Given the description of an element on the screen output the (x, y) to click on. 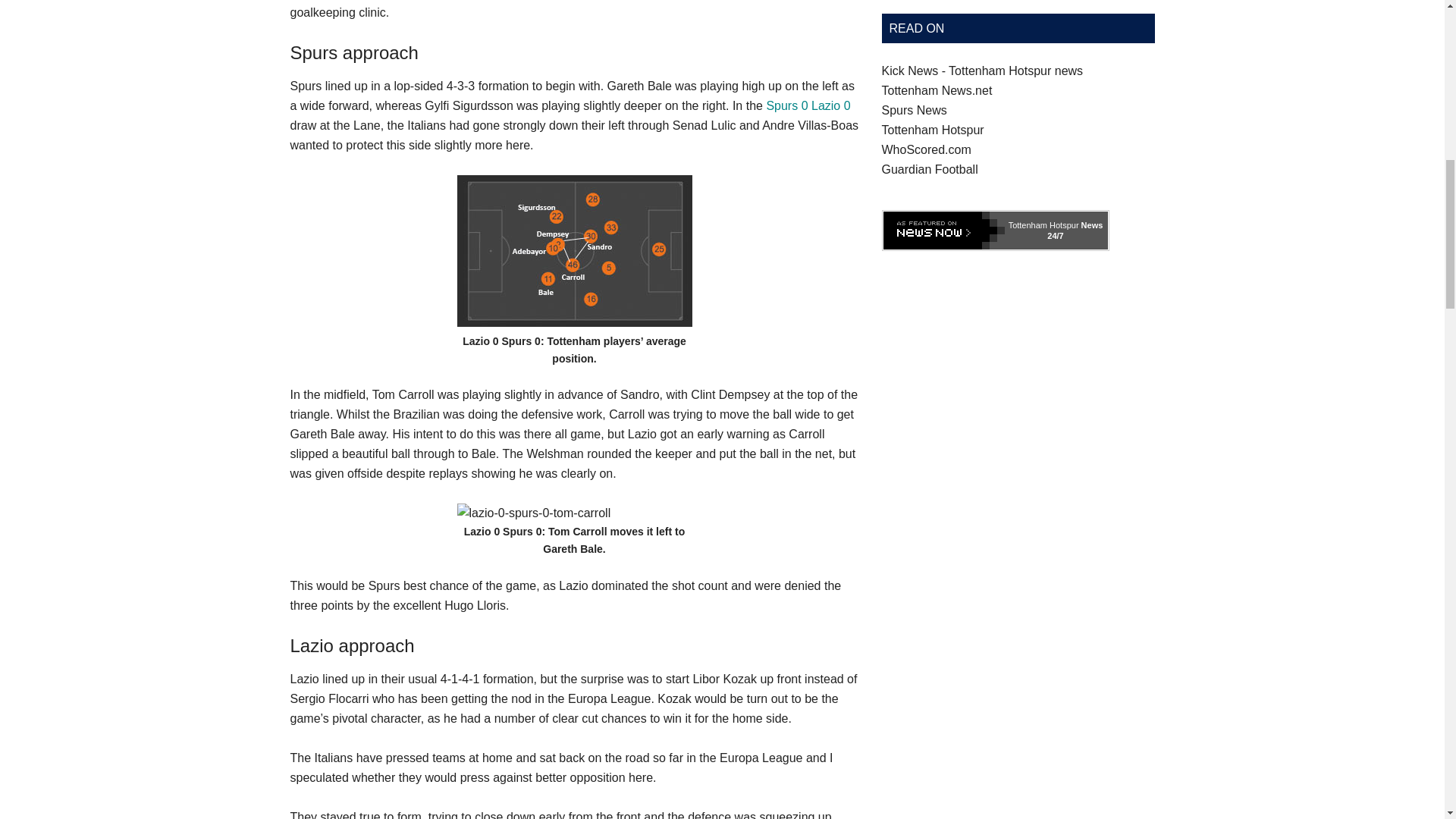
Tottenham News (935, 90)
Kick News - Tottenham Hotspur News (981, 70)
Spurs News (913, 110)
Spurs 0 Lazio 0 (807, 105)
Tottenham Hotspur (932, 129)
Spurs 0 Lazio 0: Tottenham dominate but are denied (807, 105)
lazio-0-spurs-0-tom-carroll (533, 513)
lazio-0-spurs-0-avg-pos (574, 250)
WhoScored.com (925, 149)
